Given the description of an element on the screen output the (x, y) to click on. 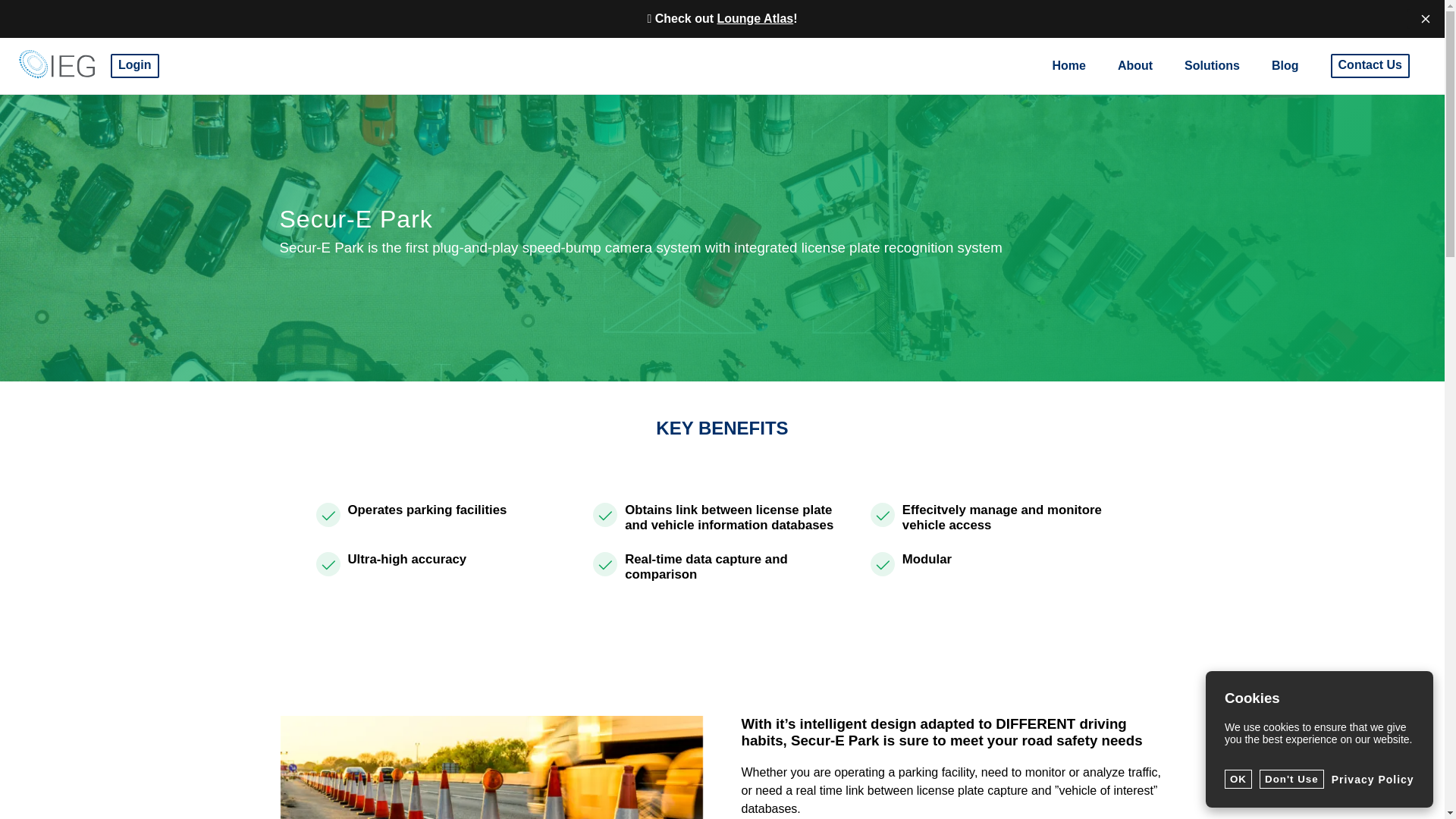
Login (134, 65)
Home (1067, 65)
About (1135, 65)
Don't Use (1291, 778)
Blog (1284, 65)
OK (1238, 778)
Contact Us (1369, 65)
Privacy Policy (1372, 779)
Solutions (1212, 65)
